Given the description of an element on the screen output the (x, y) to click on. 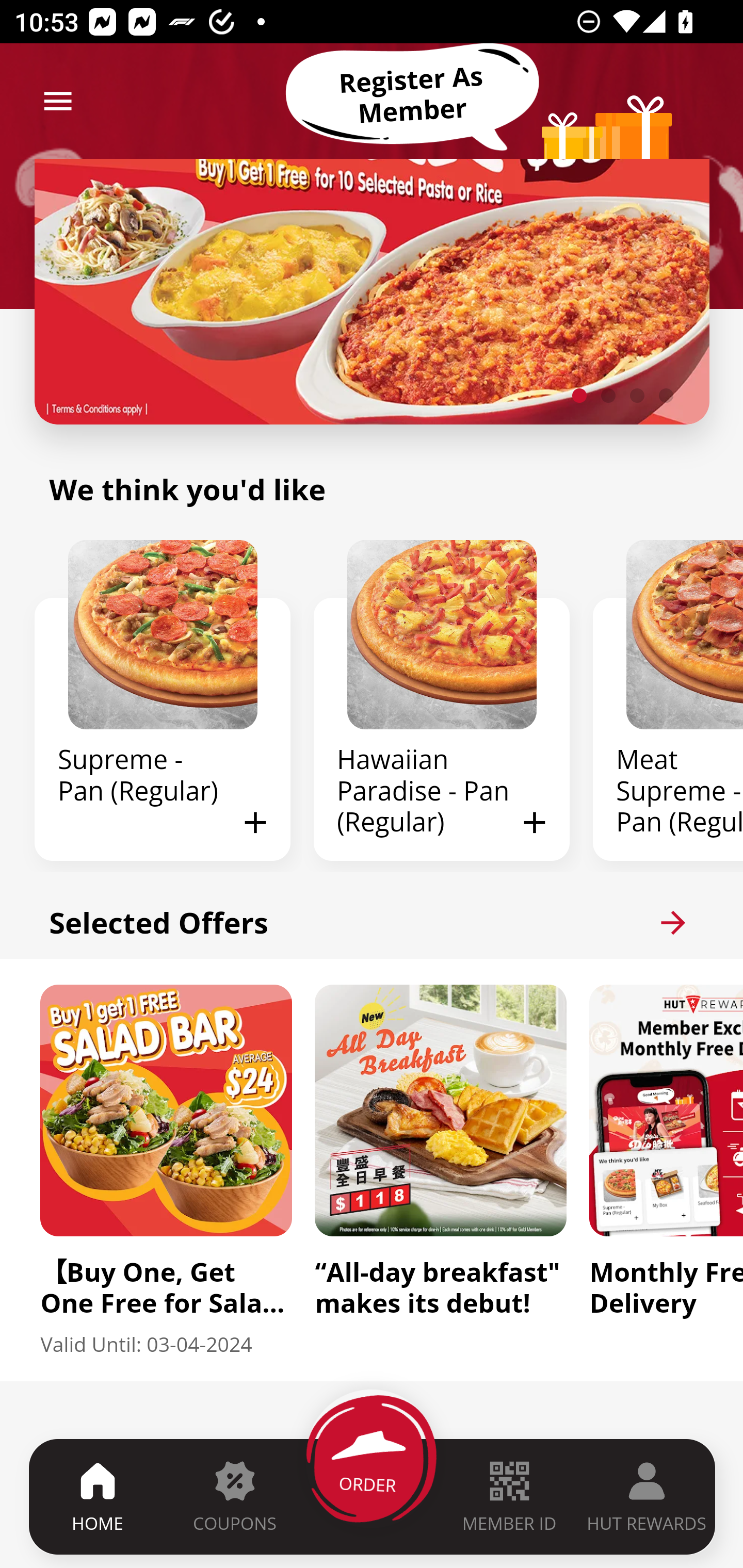
Register As Member (411, 95)
menu (58, 100)
arrow_forward (672, 922)
HOME (97, 1496)
COUPONS (234, 1496)
ORDER (372, 1496)
MEMBER ID (509, 1496)
HUT REWARDS (647, 1496)
